Given the description of an element on the screen output the (x, y) to click on. 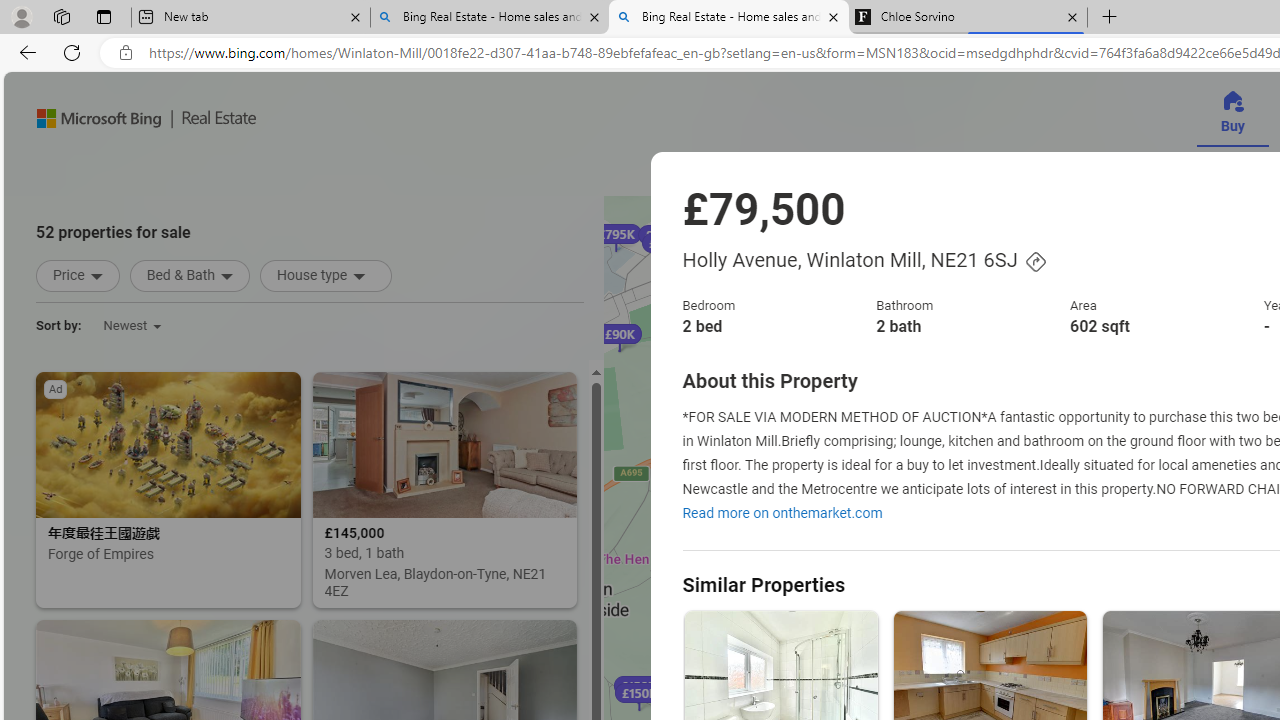
Chloe Sorvino (967, 17)
Bing Real Estate - Home sales and rental listings (729, 17)
